Given the description of an element on the screen output the (x, y) to click on. 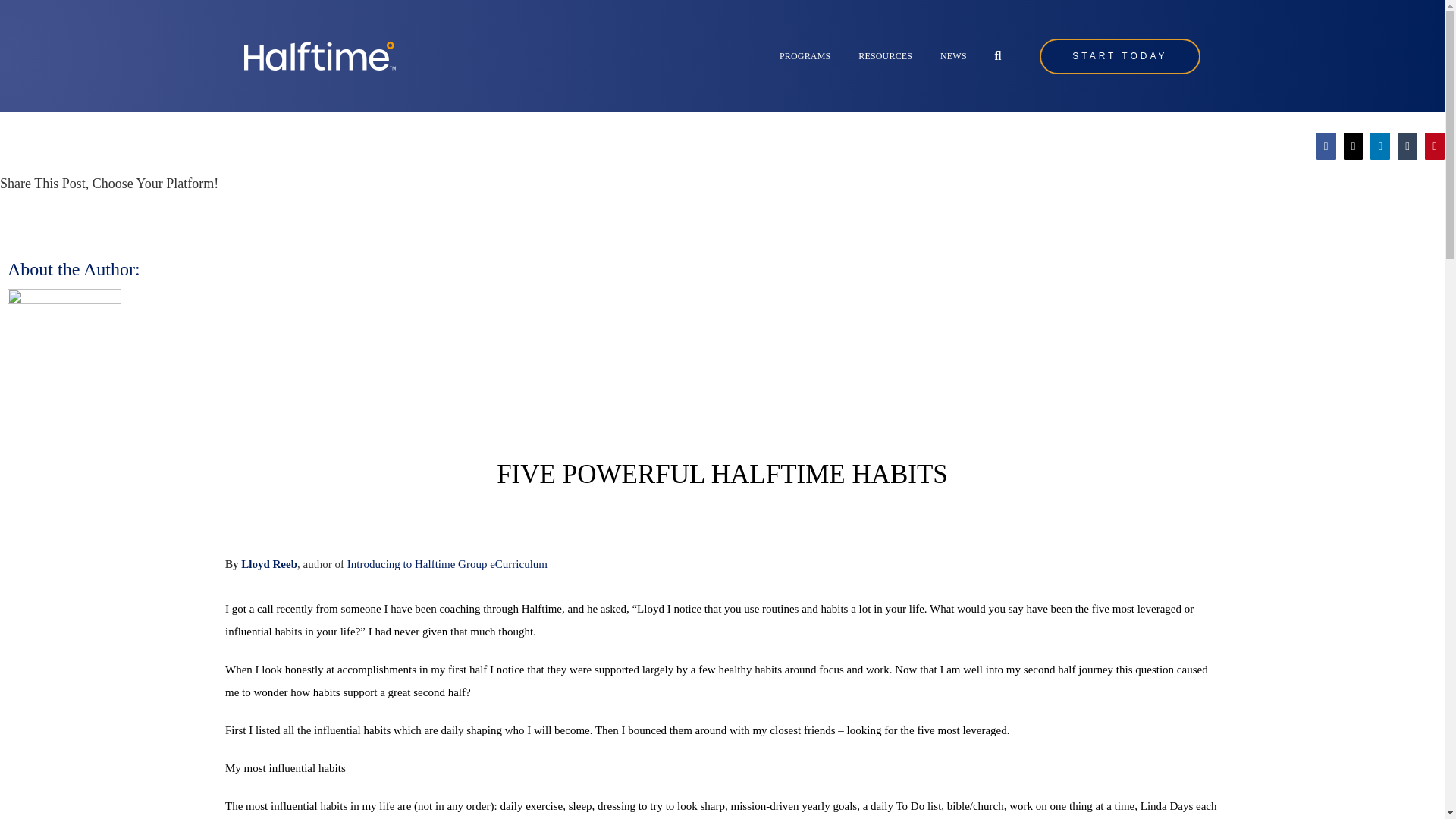
NEWS (953, 55)
RESOURCES (885, 55)
START TODAY (1119, 55)
PROGRAMS (803, 55)
